Given the description of an element on the screen output the (x, y) to click on. 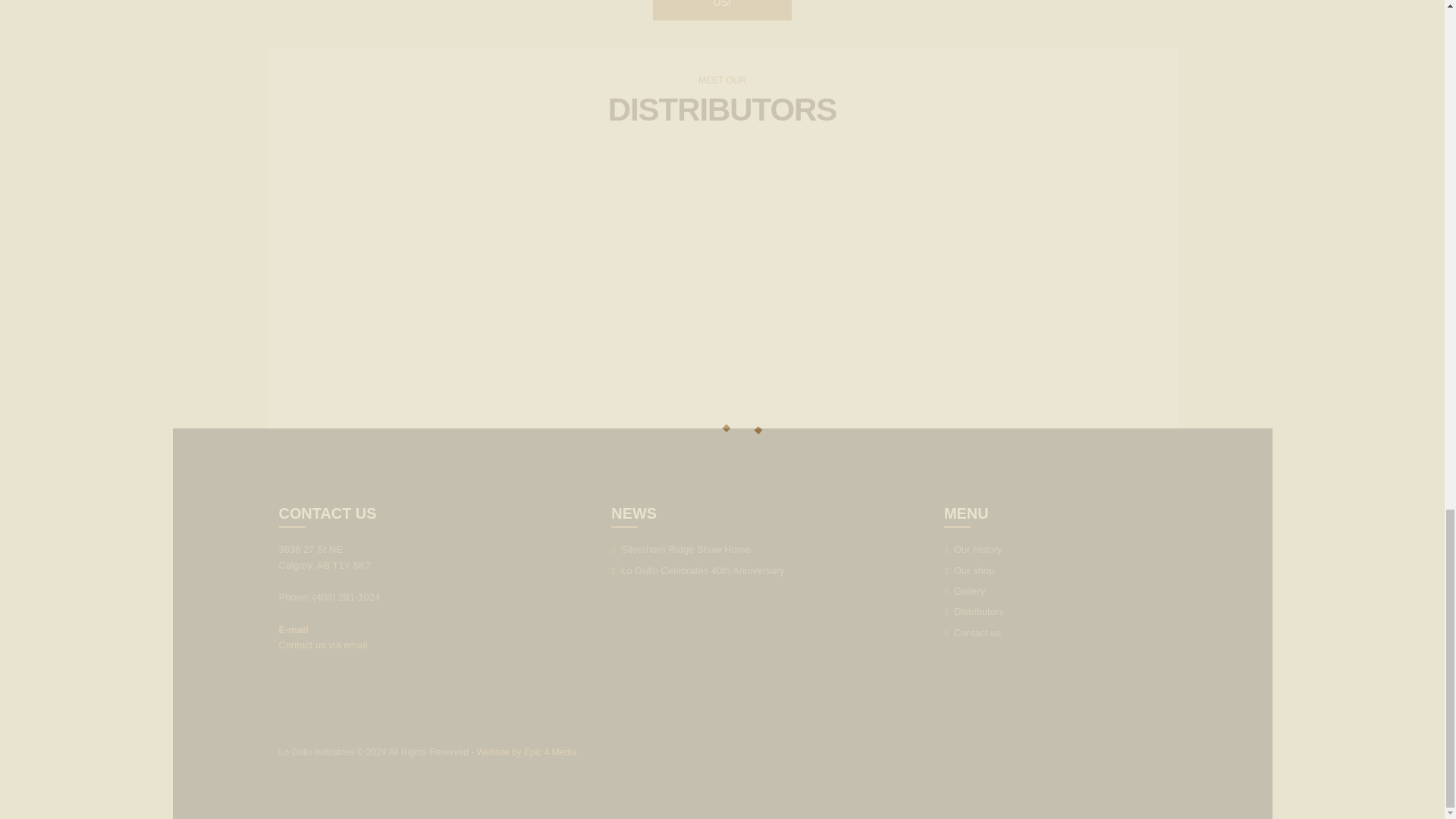
CONTACT US! (721, 10)
